Given the description of an element on the screen output the (x, y) to click on. 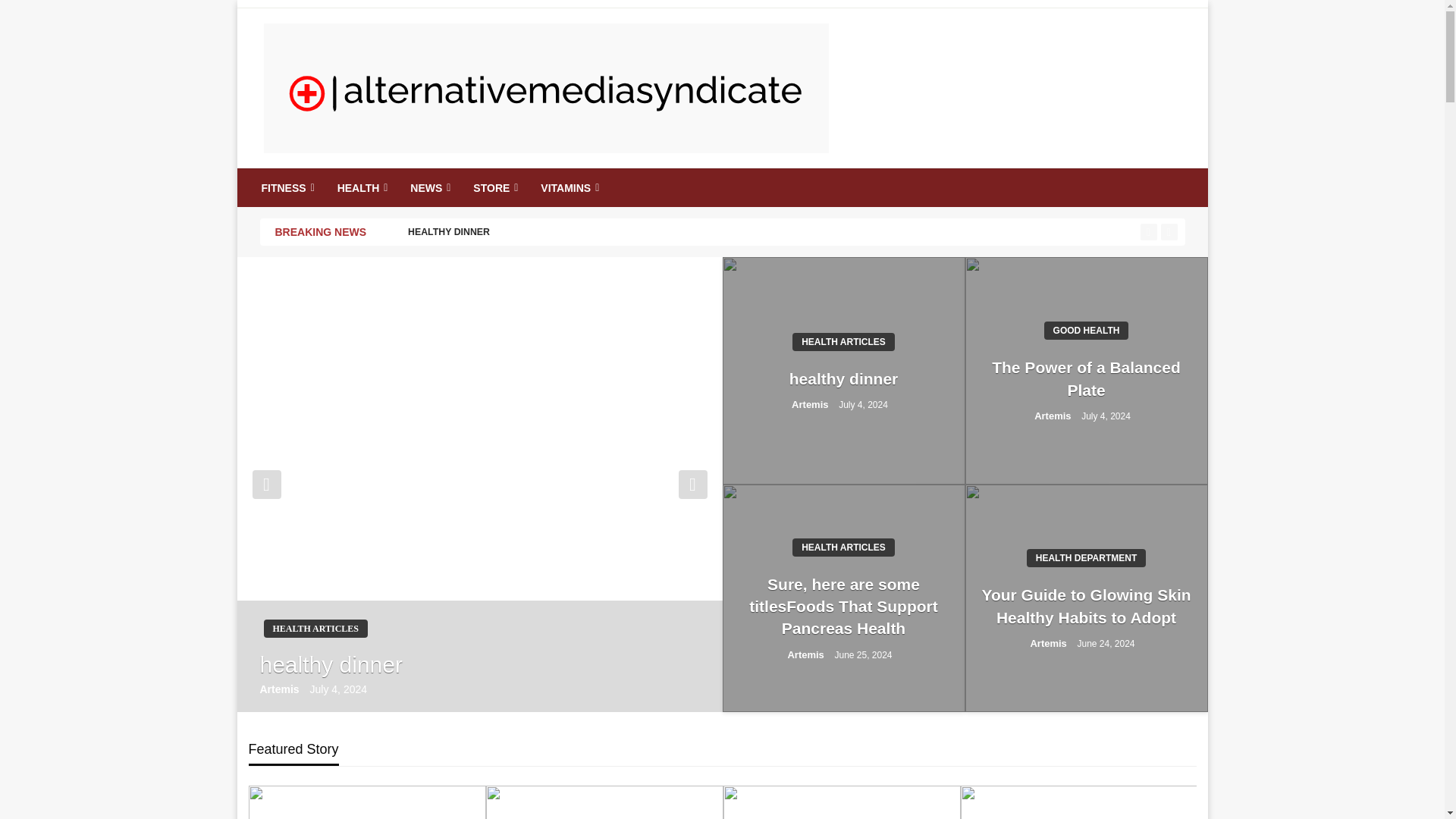
NEWS (428, 187)
HEALTHY DINNER (805, 231)
FITNESS (286, 187)
HEALTH (360, 187)
VITAMINS (567, 187)
AlternativeM (347, 180)
STORE (493, 187)
